Given the description of an element on the screen output the (x, y) to click on. 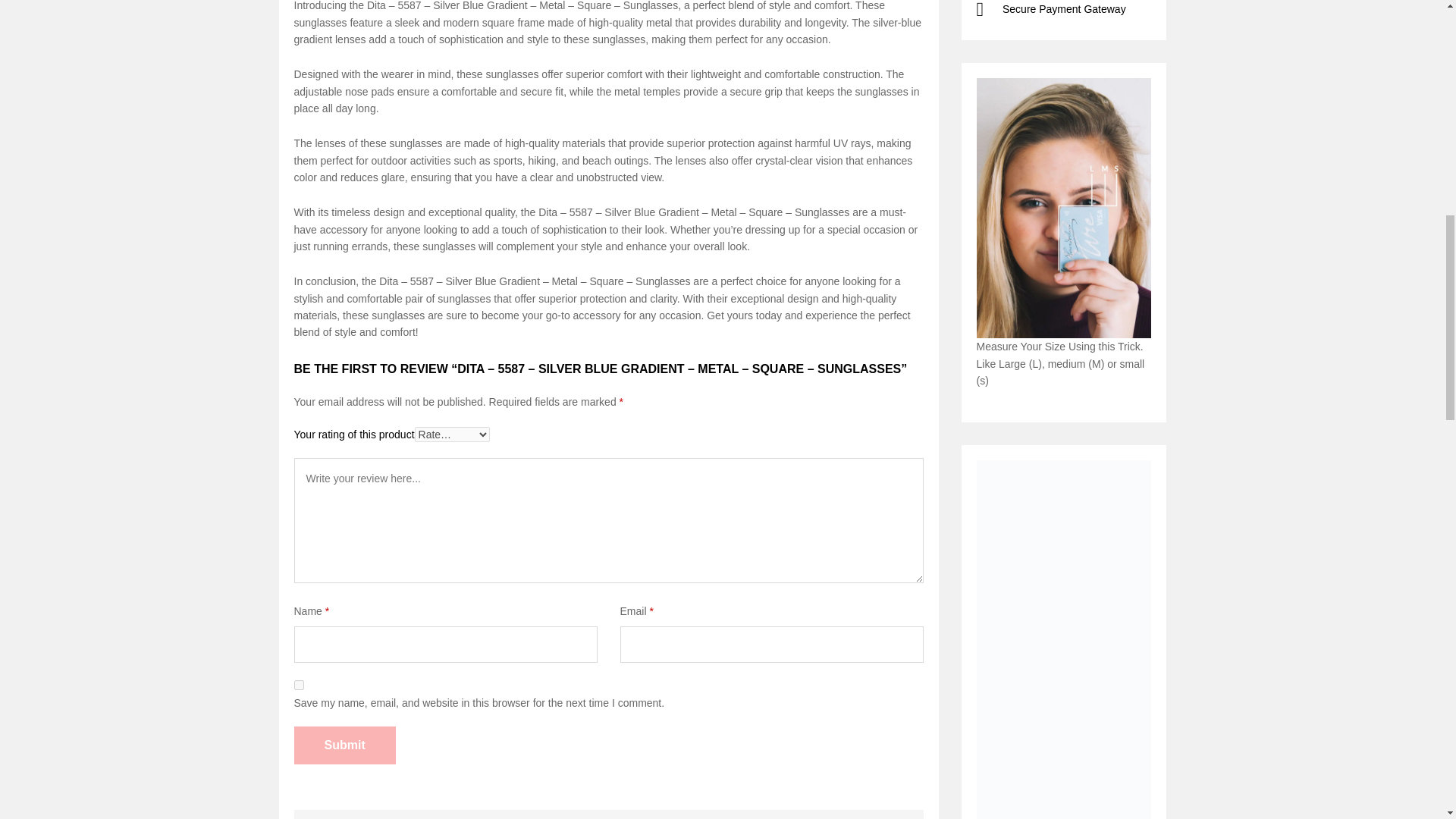
Submit (345, 745)
yes (299, 685)
